Given the description of an element on the screen output the (x, y) to click on. 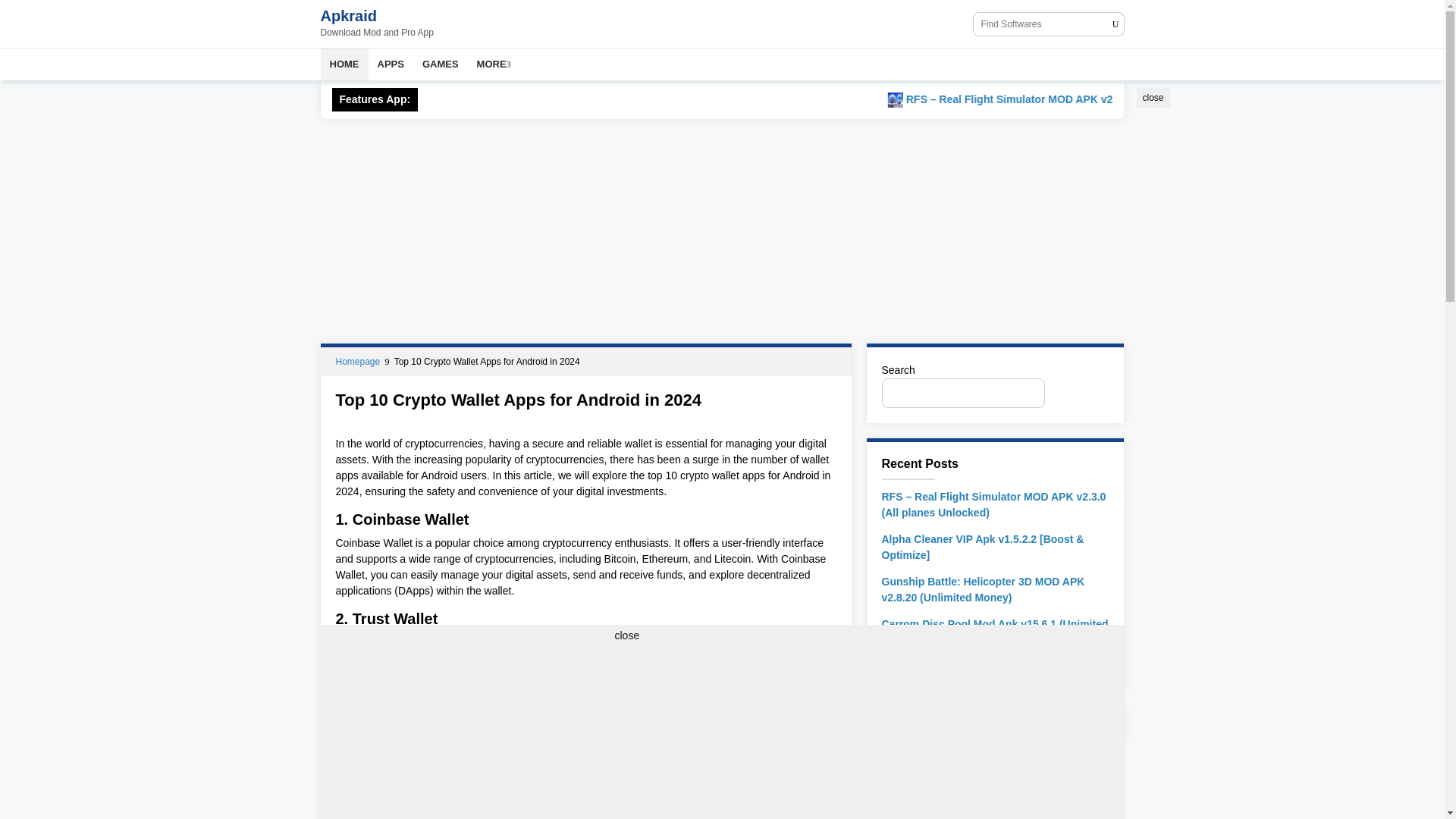
GAMES (440, 64)
close (1152, 97)
APPS (390, 64)
Homepage (357, 361)
close (626, 635)
Advertisement (1248, 182)
MORE (493, 64)
HOME (344, 64)
close (1152, 97)
Apkraid (347, 15)
Download RFS   Real Flight Simulator MOD APK (1074, 99)
Apkraid (347, 15)
Search (1080, 392)
